Given the description of an element on the screen output the (x, y) to click on. 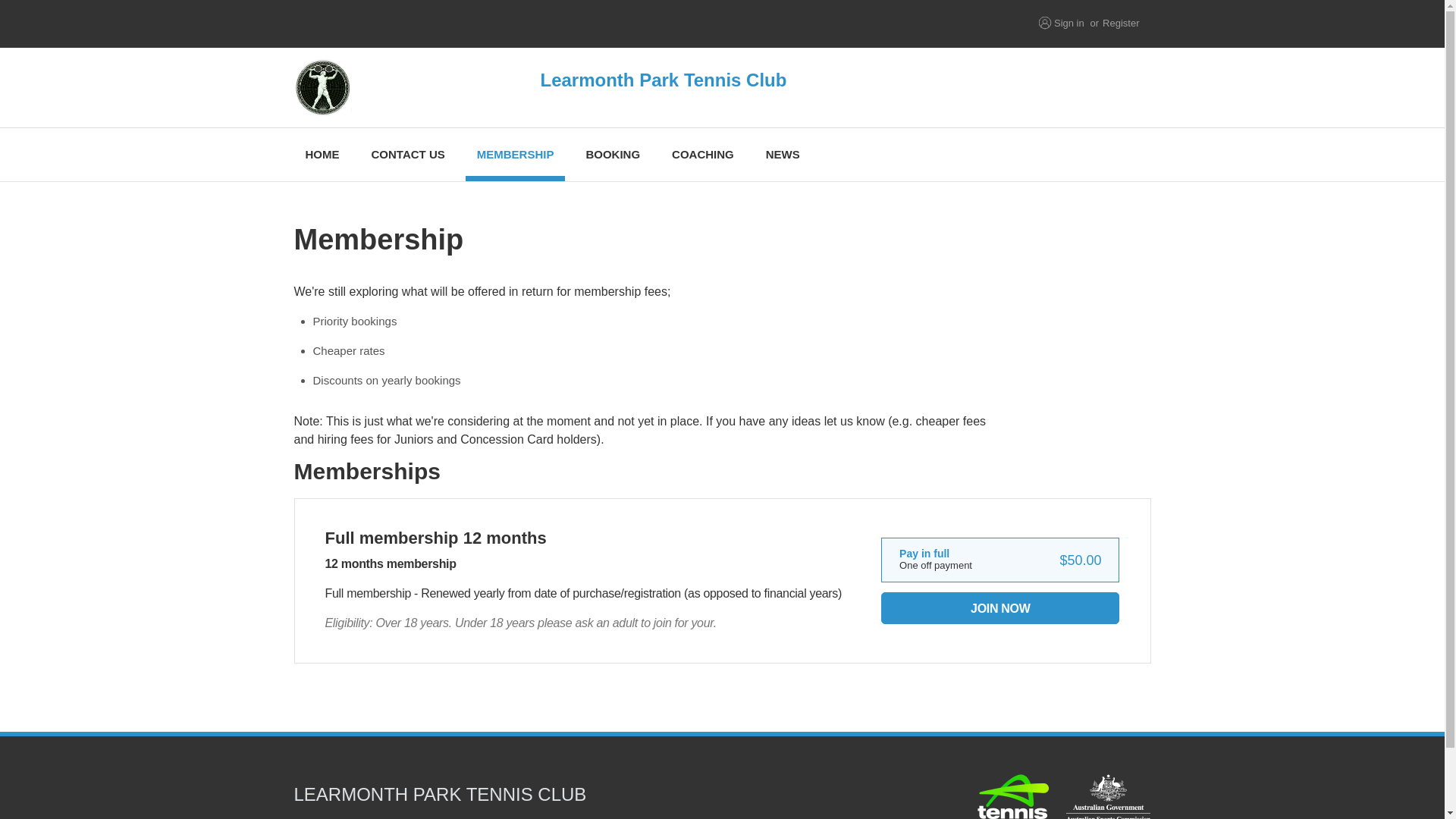
Learmonth Park Tennis Club (593, 87)
HOME (322, 153)
Tennis Australia (508, 23)
Sign in (1069, 22)
Register (1120, 22)
CONTACT US (407, 153)
Tennis Australia (1013, 796)
JOIN NOW (999, 608)
COACHING (703, 153)
BOOKING (611, 153)
MEMBERSHIP (515, 153)
NEWS (782, 153)
